Given the description of an element on the screen output the (x, y) to click on. 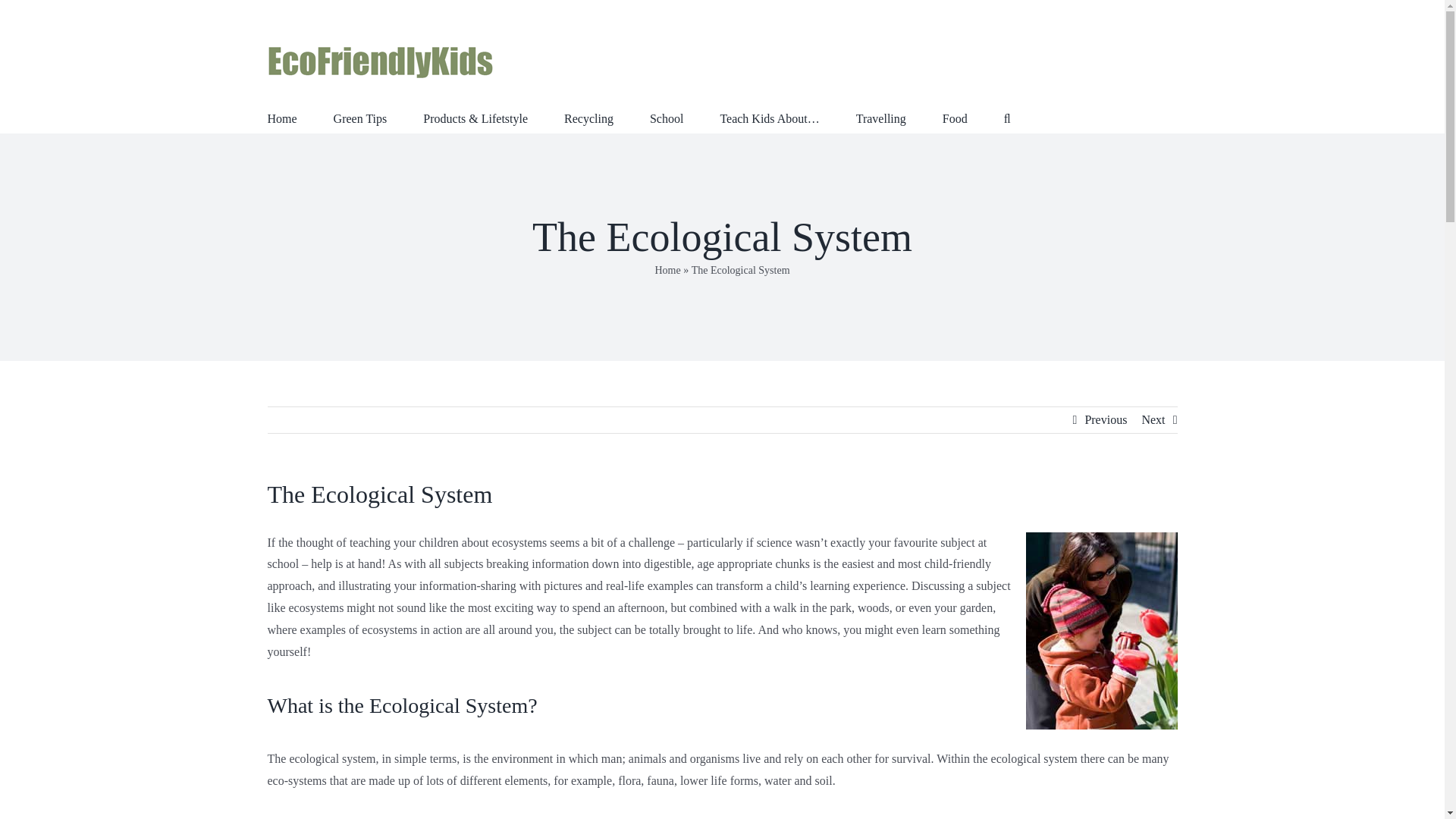
Green Tips (360, 117)
Previous (1105, 420)
Travelling (880, 117)
Next (1152, 420)
Home (666, 270)
Home (281, 117)
Recycling (588, 117)
School (665, 117)
